Given the description of an element on the screen output the (x, y) to click on. 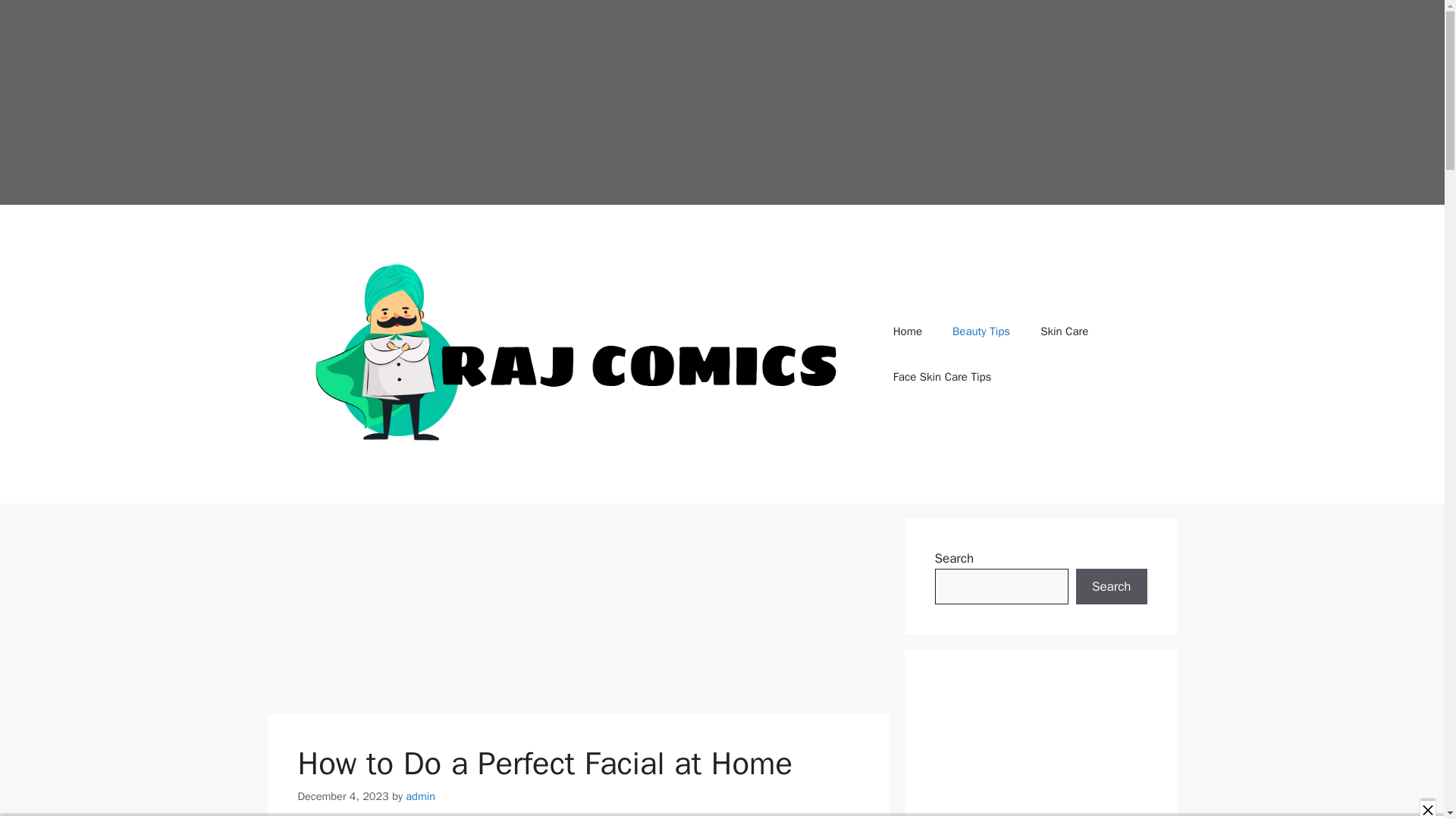
Search (1111, 586)
Home (907, 330)
admin (420, 796)
Beauty Tips (981, 330)
Skin Care (1064, 330)
View all posts by admin (420, 796)
Face Skin Care Tips (942, 376)
